Given the description of an element on the screen output the (x, y) to click on. 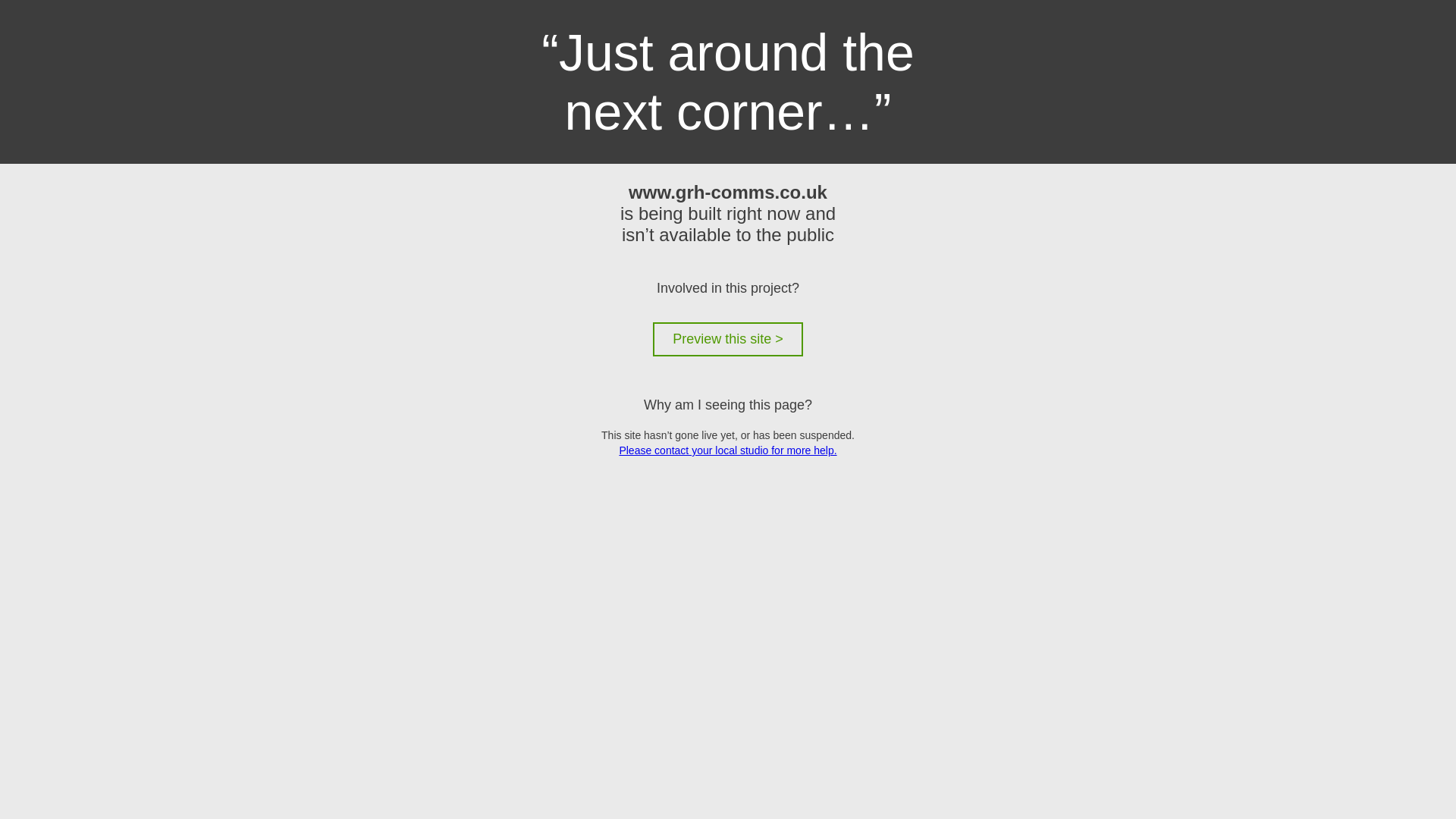
Please contact your local studio for more help. (726, 450)
